Given the description of an element on the screen output the (x, y) to click on. 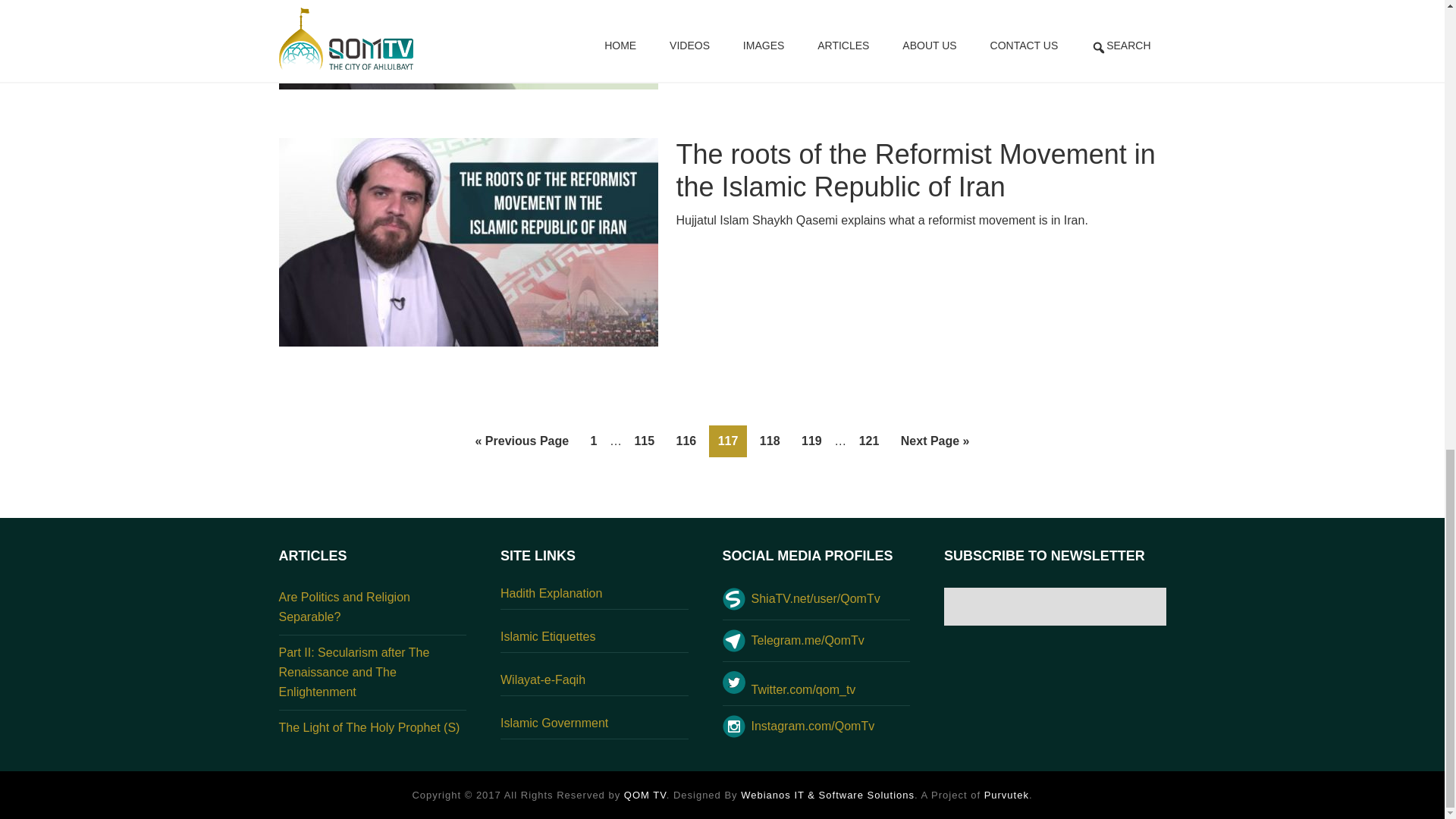
121 (869, 441)
118 (770, 441)
Hadith Explanation (594, 598)
Are Politics and Religion Separable? (344, 606)
Islamic Government (594, 728)
119 (811, 441)
Email Address (1054, 606)
Wilayat-e-Faqih (594, 685)
Islamic Etiquettes (594, 641)
